Given the description of an element on the screen output the (x, y) to click on. 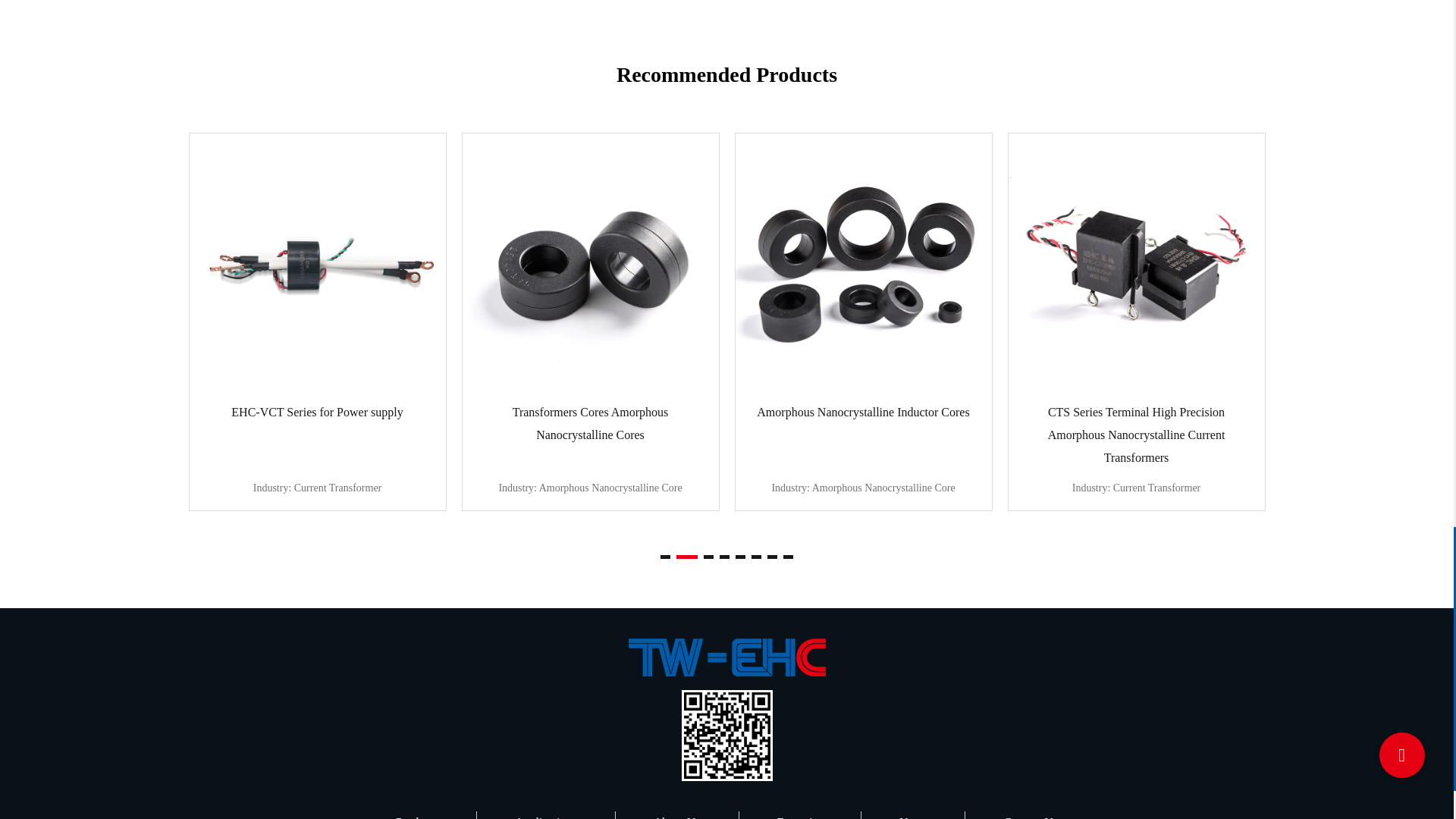
EHC-VCT Series for Power supply (317, 261)
Amorphous Nanocrystalline Inductor Cores (863, 261)
Transformers Cores Amorphous Nanocrystalline Cores (591, 261)
